Given the description of an element on the screen output the (x, y) to click on. 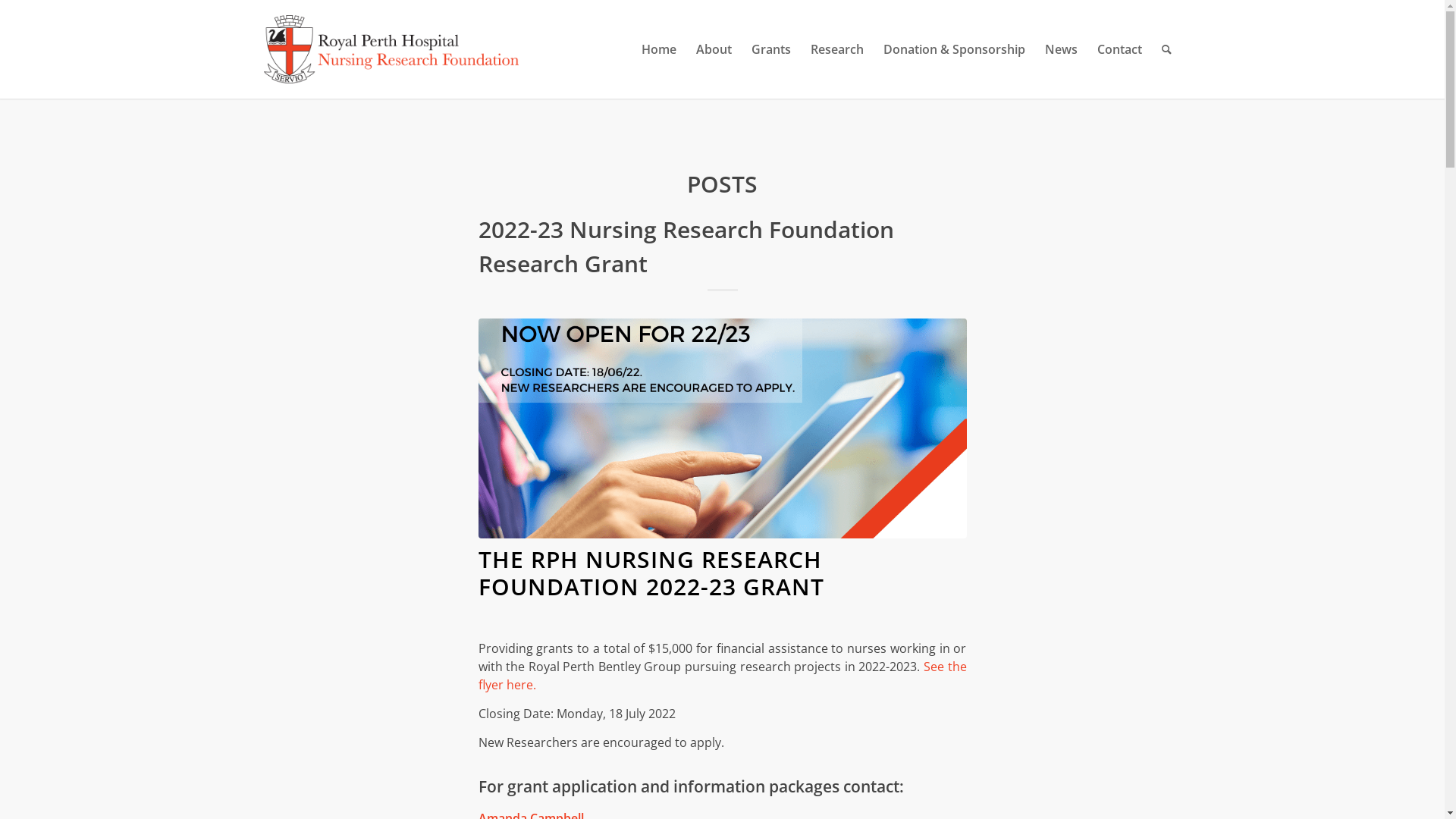
NRF-logo-2x Element type: hover (390, 49)
2022-23 Nursing Research Foundation Research Grant Element type: text (685, 246)
Home Element type: text (657, 49)
Research Element type: text (836, 49)
NRF Blog Post Image (5) Element type: hover (721, 428)
Donation & Sponsorship Element type: text (954, 49)
Contact Element type: text (1119, 49)
News Element type: text (1060, 49)
Grants Element type: text (770, 49)
About Element type: text (712, 49)
See the flyer here. Element type: text (721, 675)
